Given the description of an element on the screen output the (x, y) to click on. 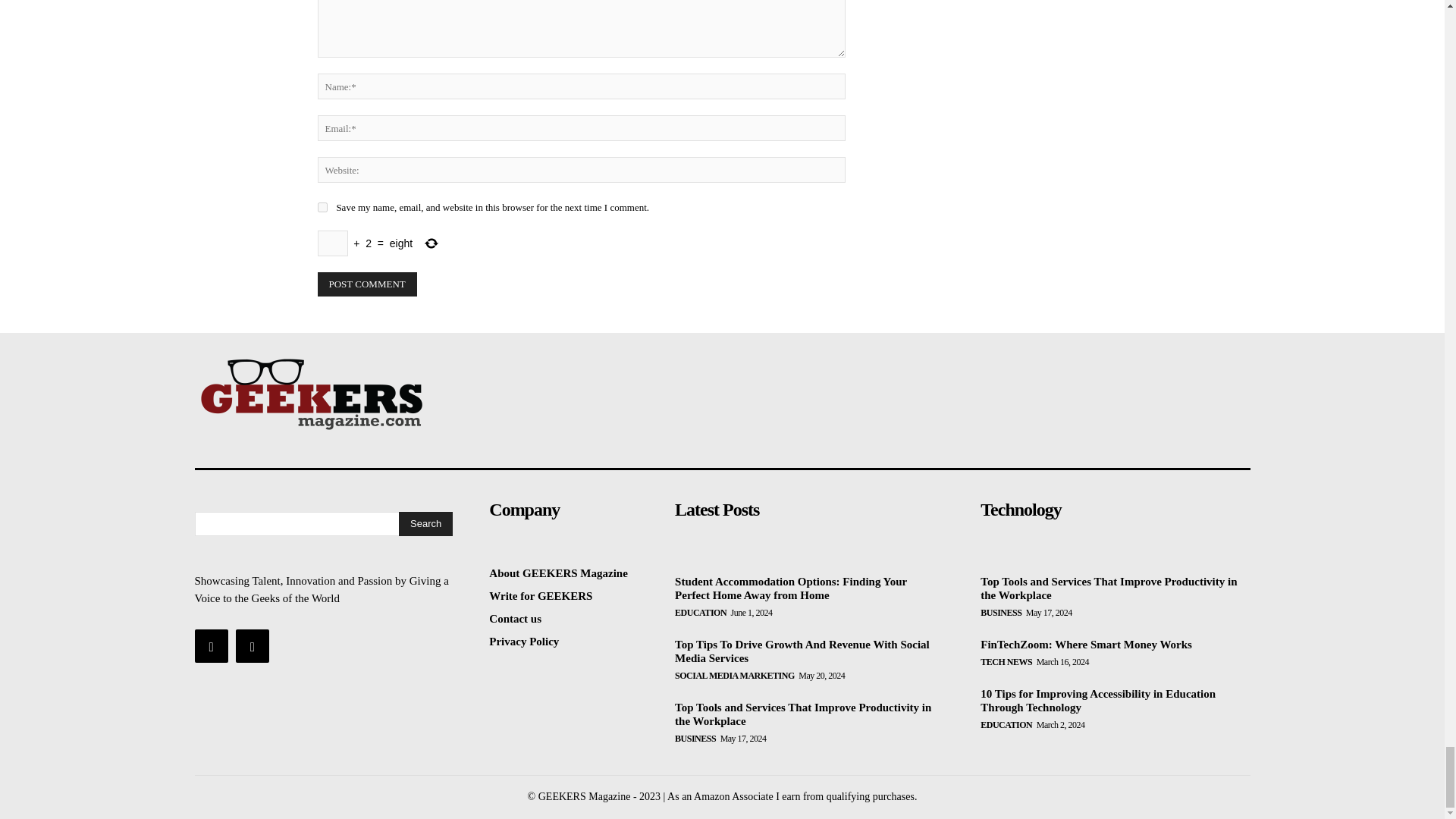
Post Comment (366, 283)
yes (321, 207)
